Given the description of an element on the screen output the (x, y) to click on. 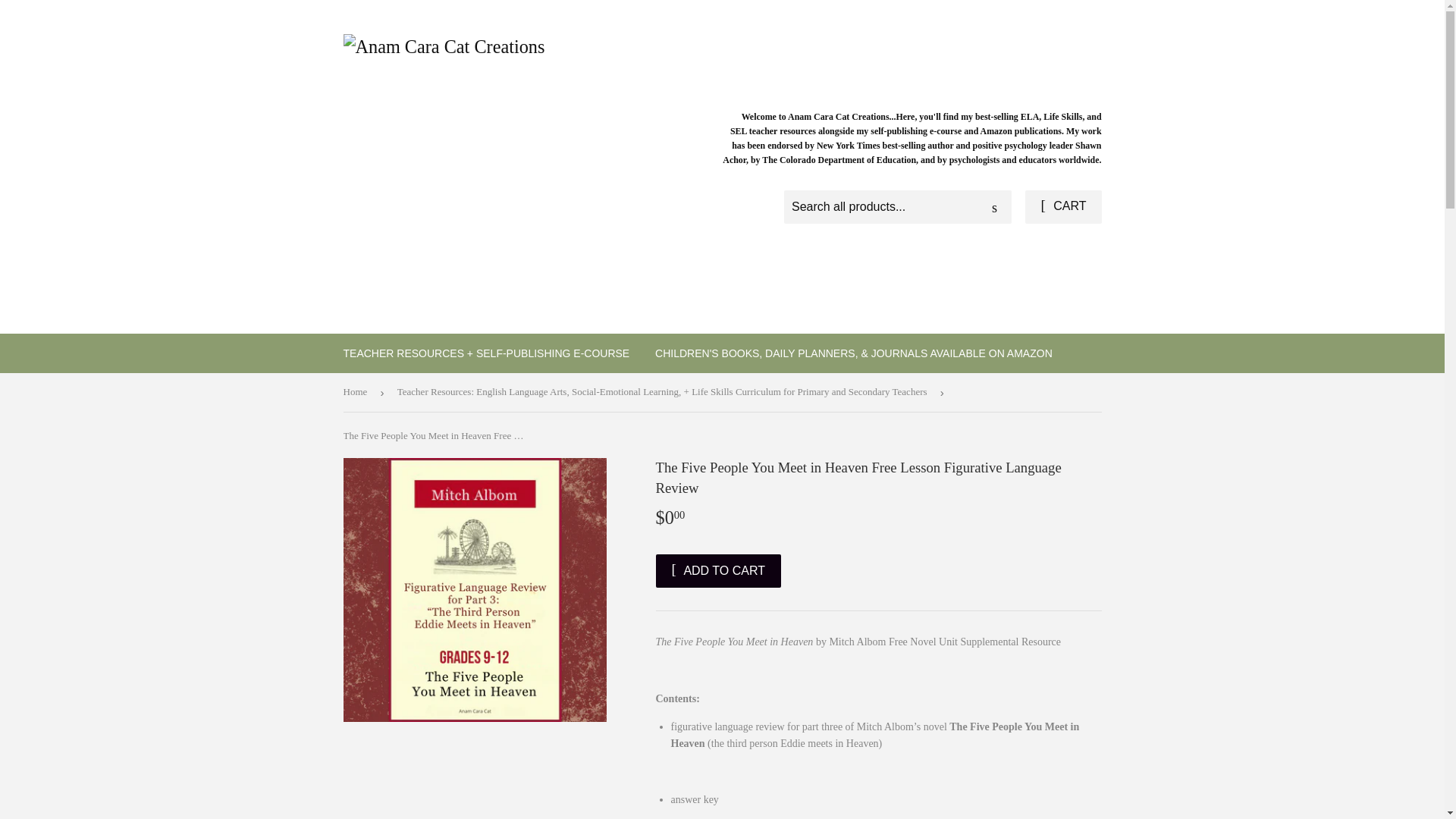
ADD TO CART (717, 571)
Search (993, 207)
CART (1062, 206)
